Given the description of an element on the screen output the (x, y) to click on. 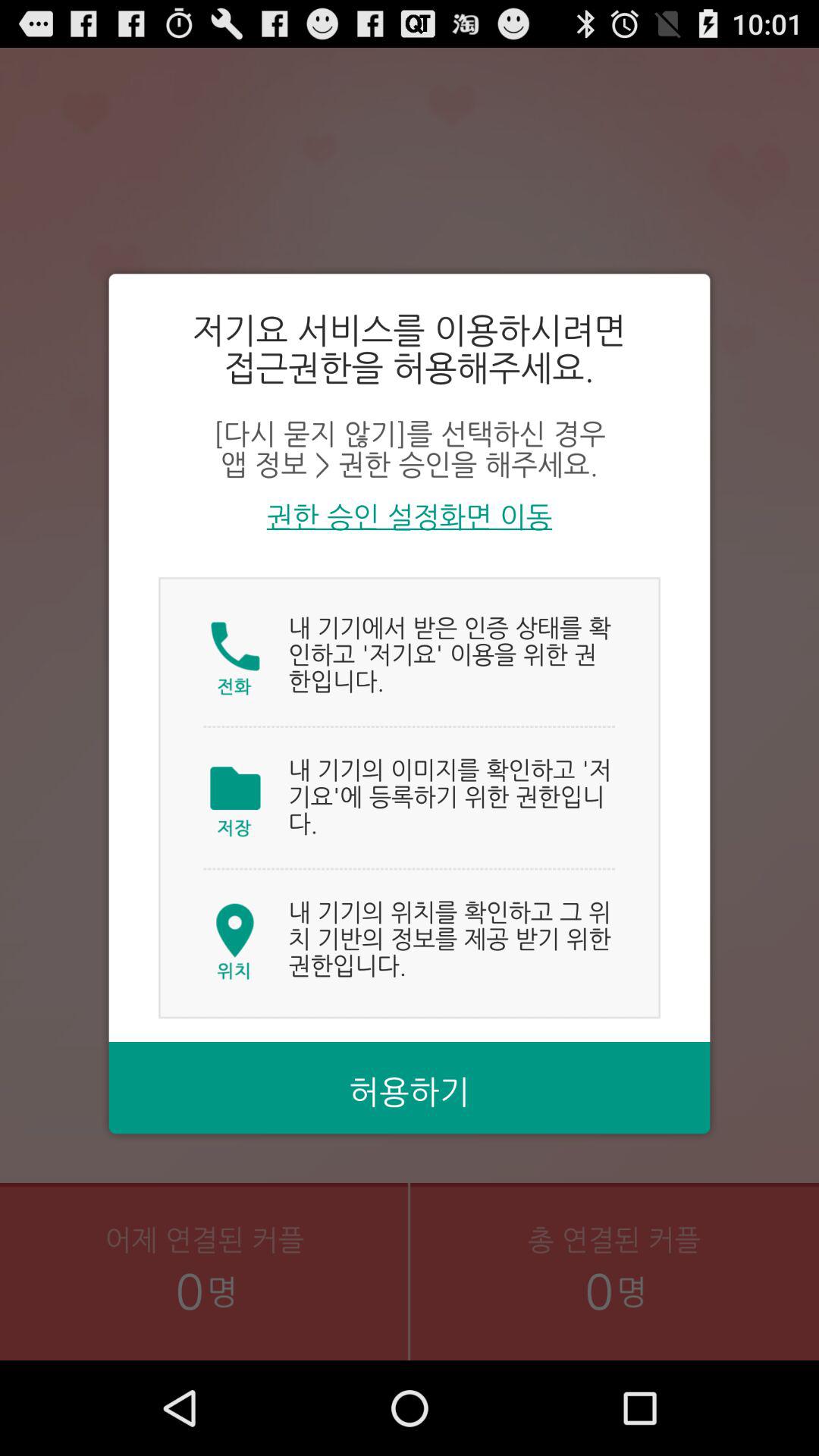
launch item at the bottom (409, 1092)
